Given the description of an element on the screen output the (x, y) to click on. 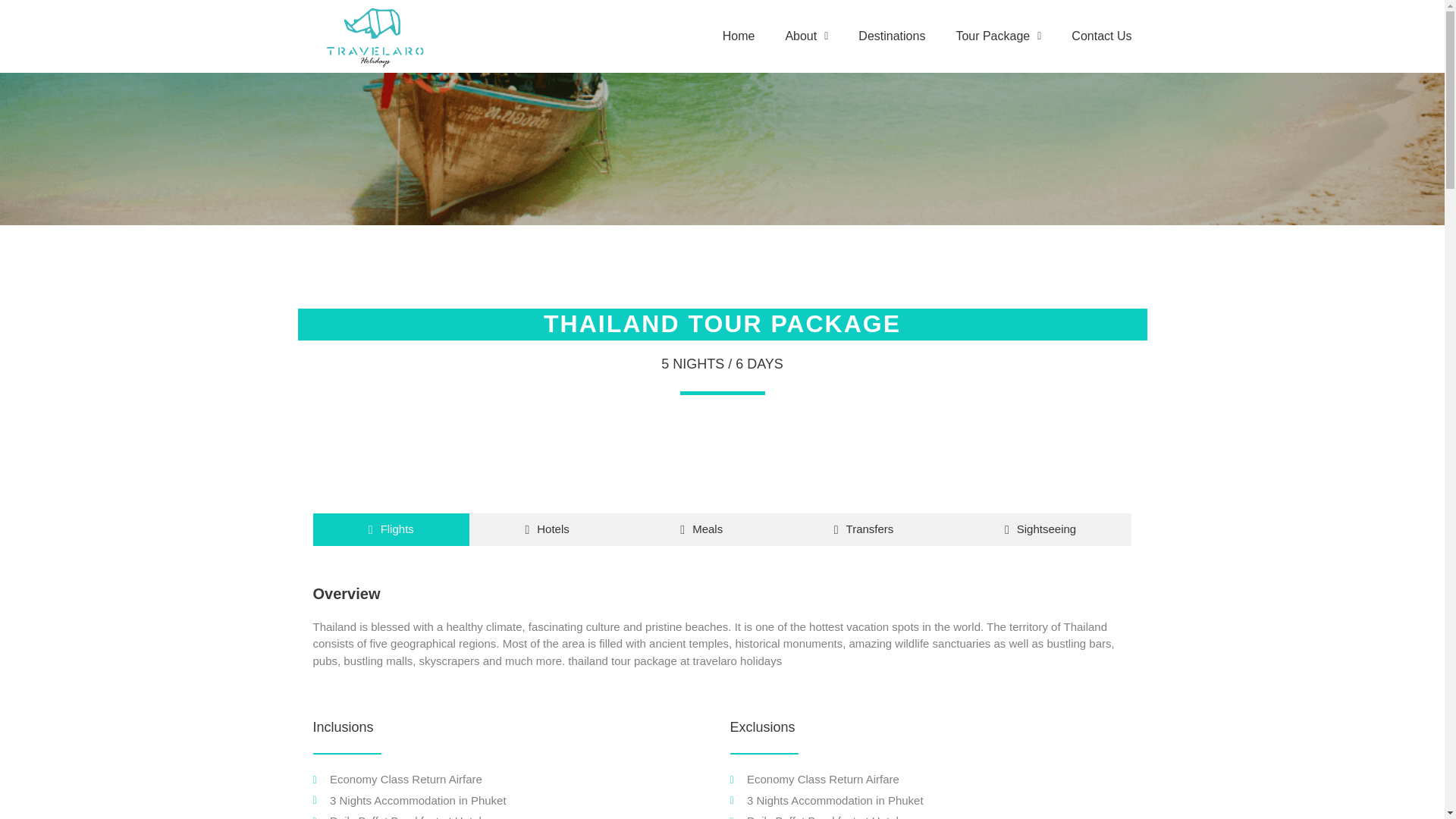
Tour Package (998, 36)
Destinations (891, 36)
Home (738, 36)
About (806, 36)
Contact Us (1102, 36)
